Given the description of an element on the screen output the (x, y) to click on. 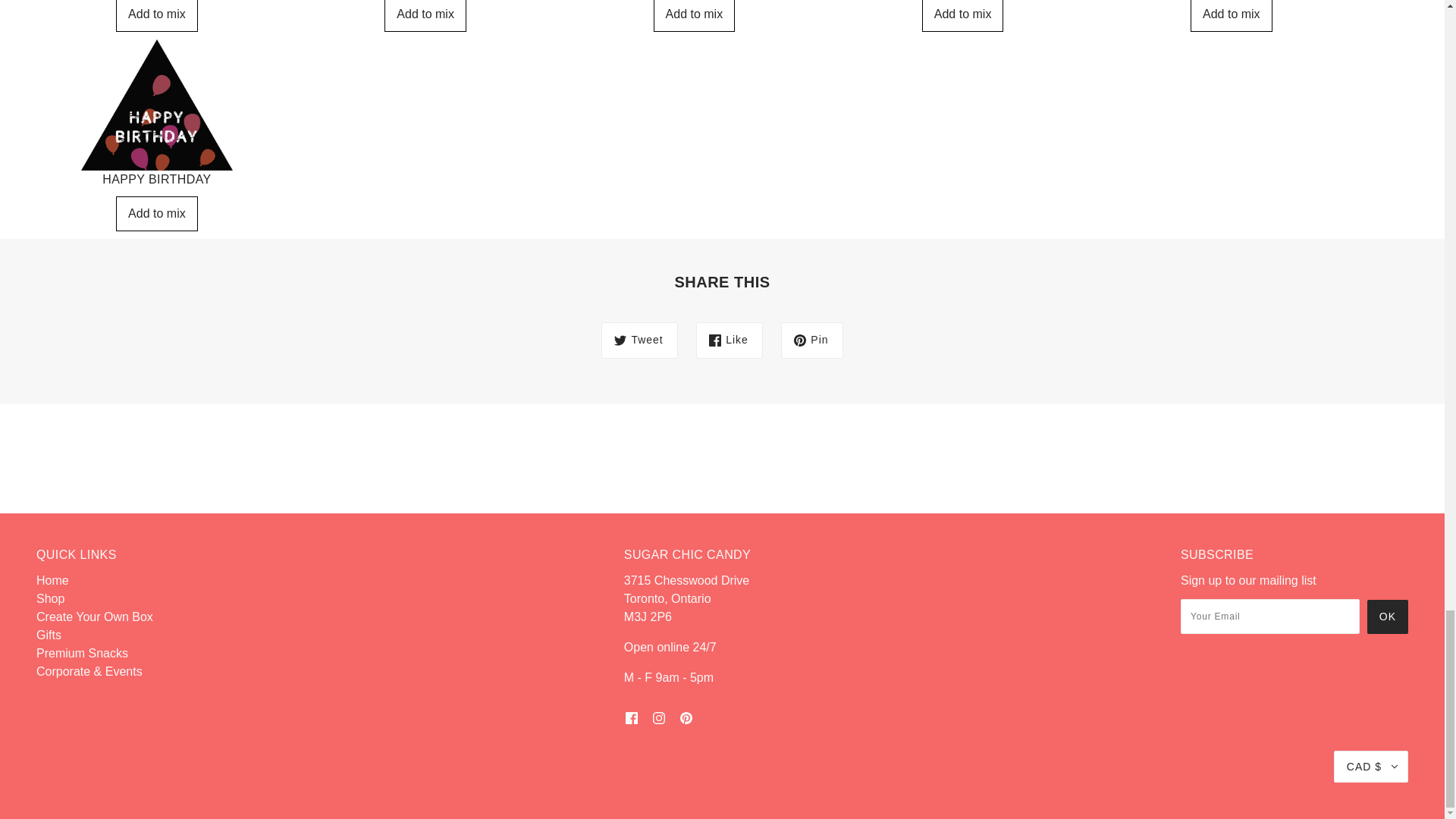
Ok (1387, 616)
